Given the description of an element on the screen output the (x, y) to click on. 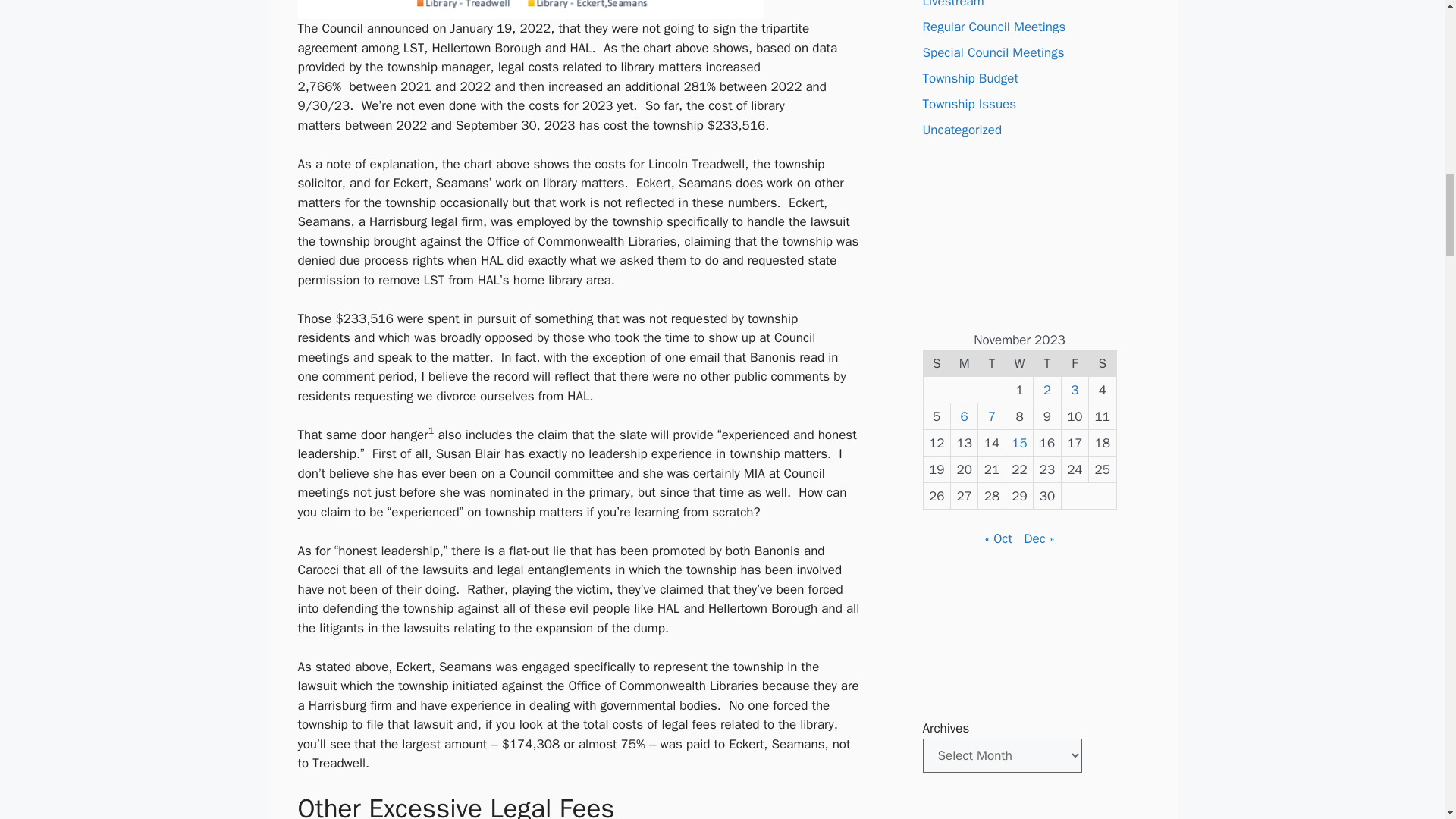
Friday (1074, 363)
Saturday (1102, 363)
Monday (963, 363)
Township Budget (969, 78)
Tuesday (992, 363)
Livestream (952, 4)
Thursday (1047, 363)
Wednesday (1019, 363)
Sunday (936, 363)
Special Council Meetings (992, 52)
Regular Council Meetings (993, 26)
